Given the description of an element on the screen output the (x, y) to click on. 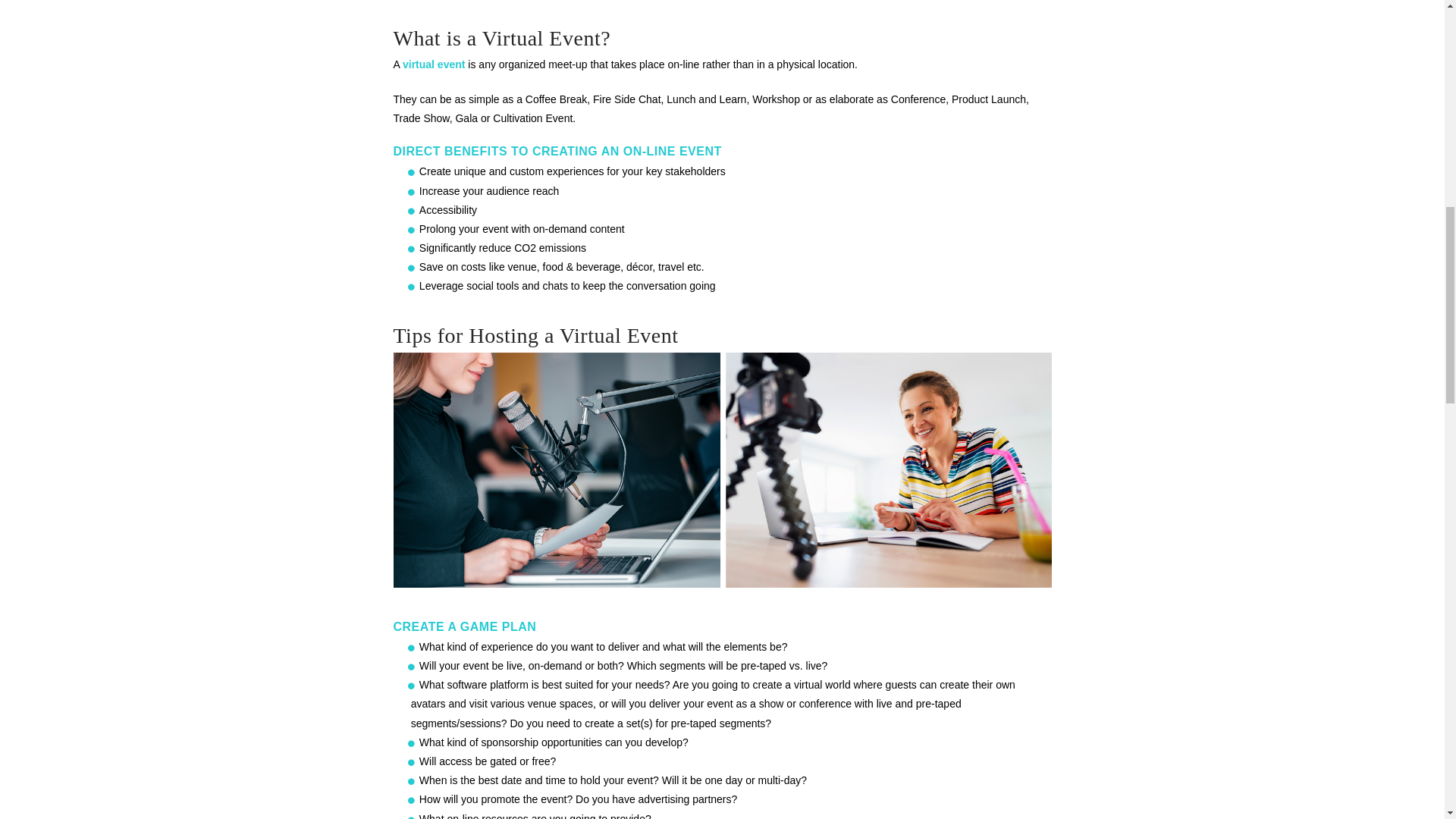
virtual event (433, 64)
